Given the description of an element on the screen output the (x, y) to click on. 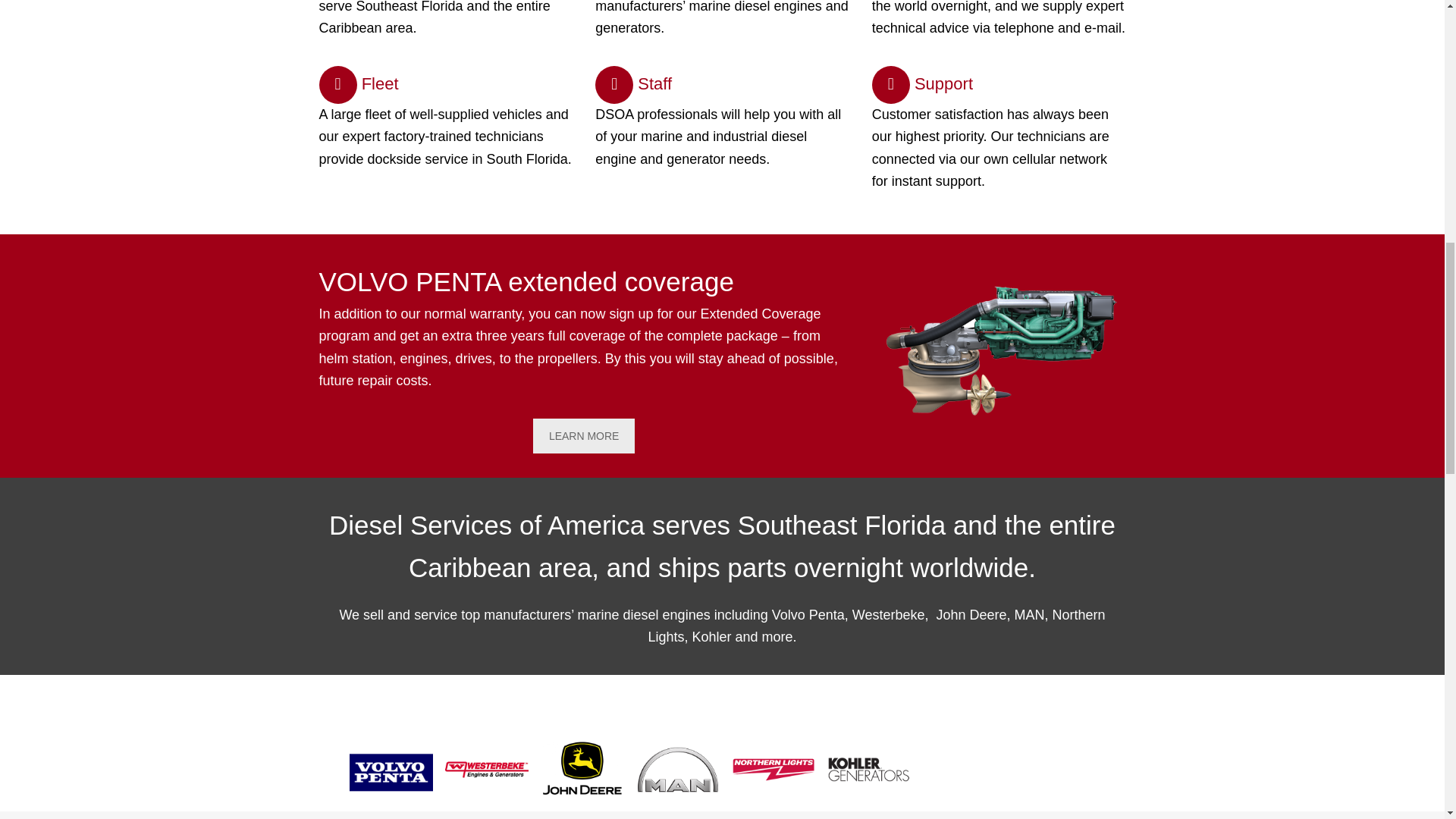
LEARN MORE (583, 435)
